Given the description of an element on the screen output the (x, y) to click on. 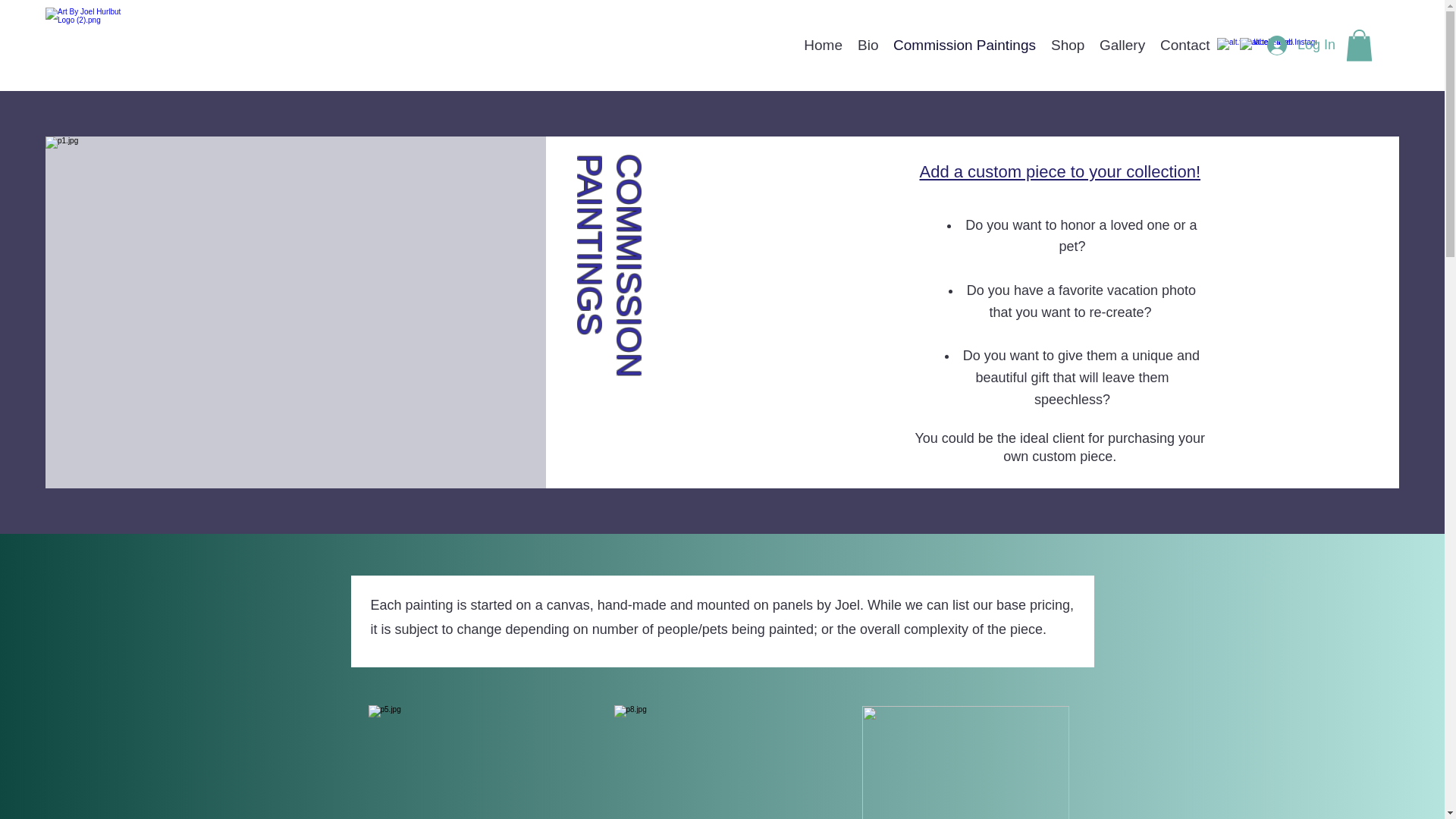
Shop (1067, 45)
Add a custom piece to your collection! (1058, 171)
Log In (1300, 45)
Contact (1185, 45)
king commission.jpg (713, 762)
Home (823, 45)
human comission.jpg (964, 762)
Gallery (1122, 45)
Bio (867, 45)
Commission Paintings (964, 45)
